Given the description of an element on the screen output the (x, y) to click on. 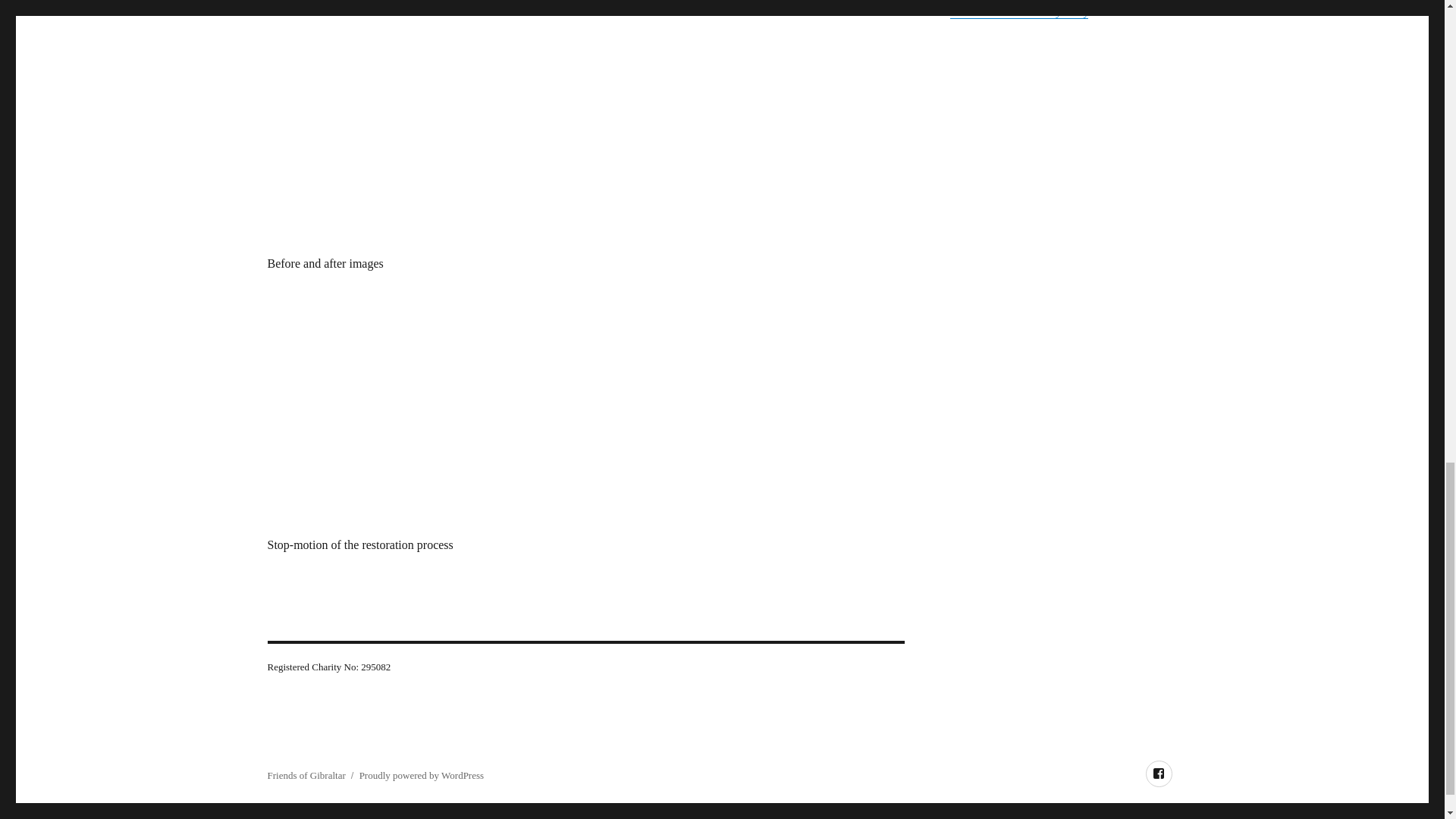
Data Protection and Privacy Policy (1018, 12)
Friends of Gibraltar on facebook (1158, 773)
Data Protection and Privacy Policy (1018, 12)
